Given the description of an element on the screen output the (x, y) to click on. 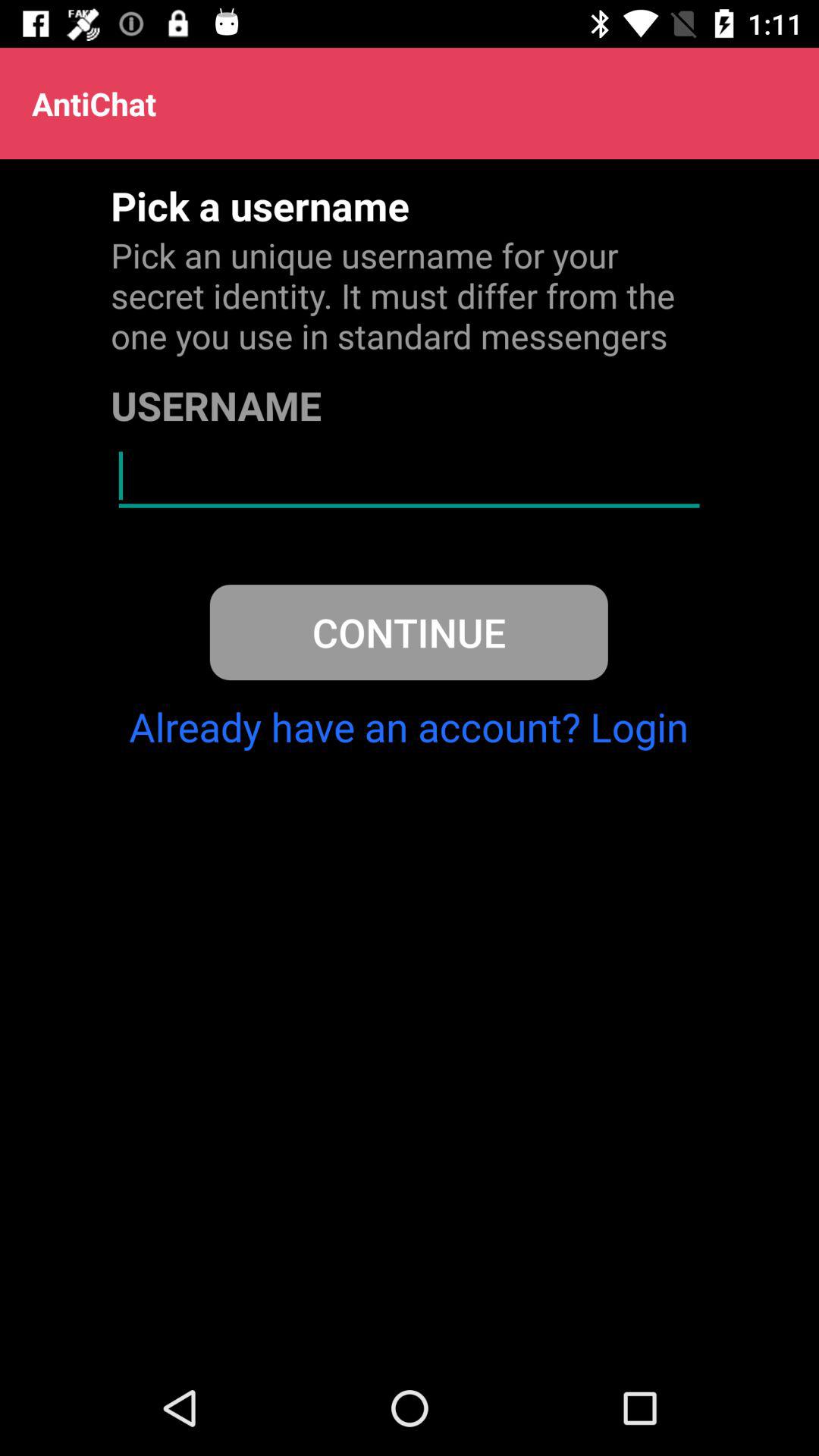
jump to already have an (408, 726)
